Given the description of an element on the screen output the (x, y) to click on. 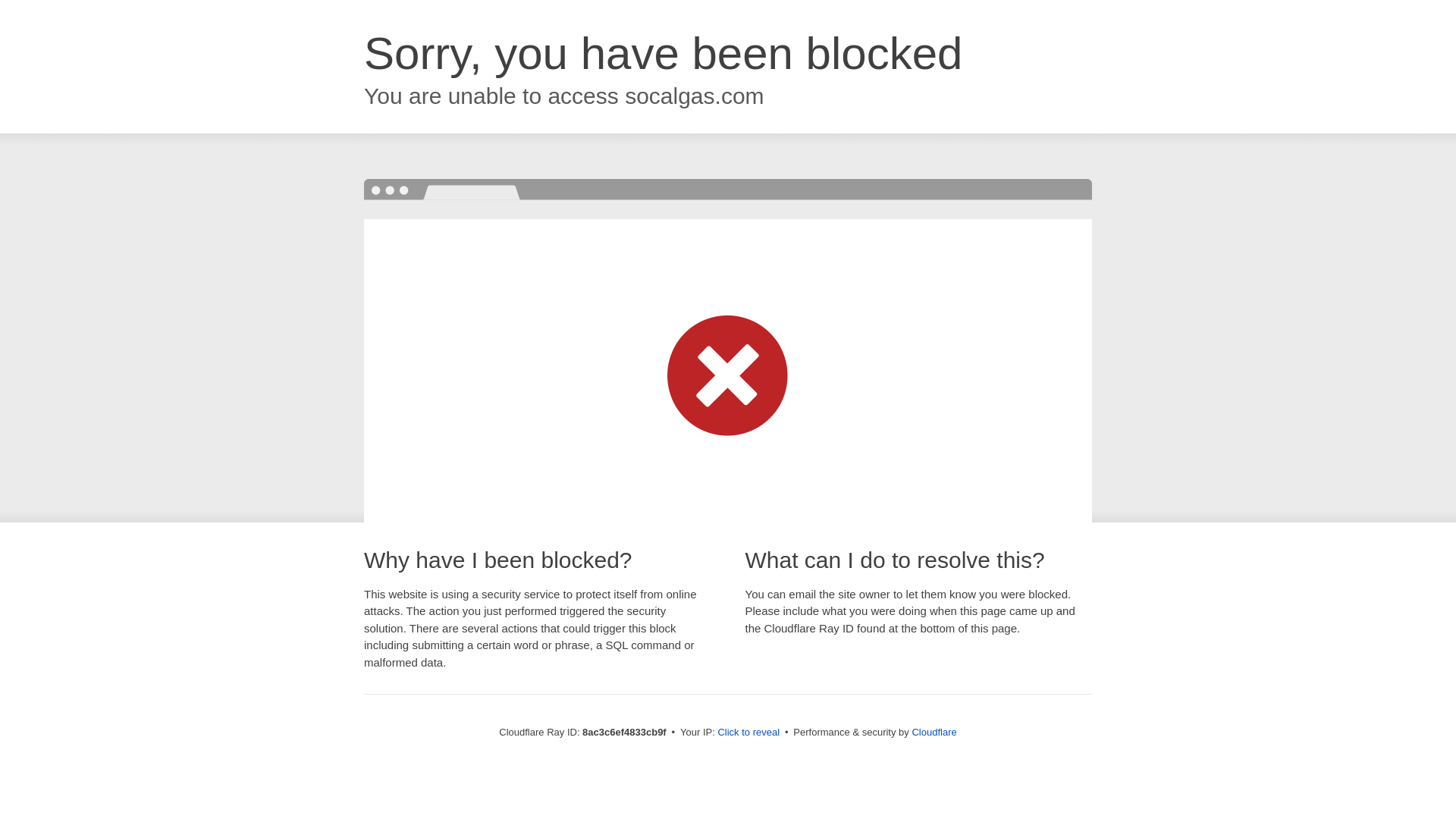
Click to reveal (747, 732)
Cloudflare (933, 731)
